Given the description of an element on the screen output the (x, y) to click on. 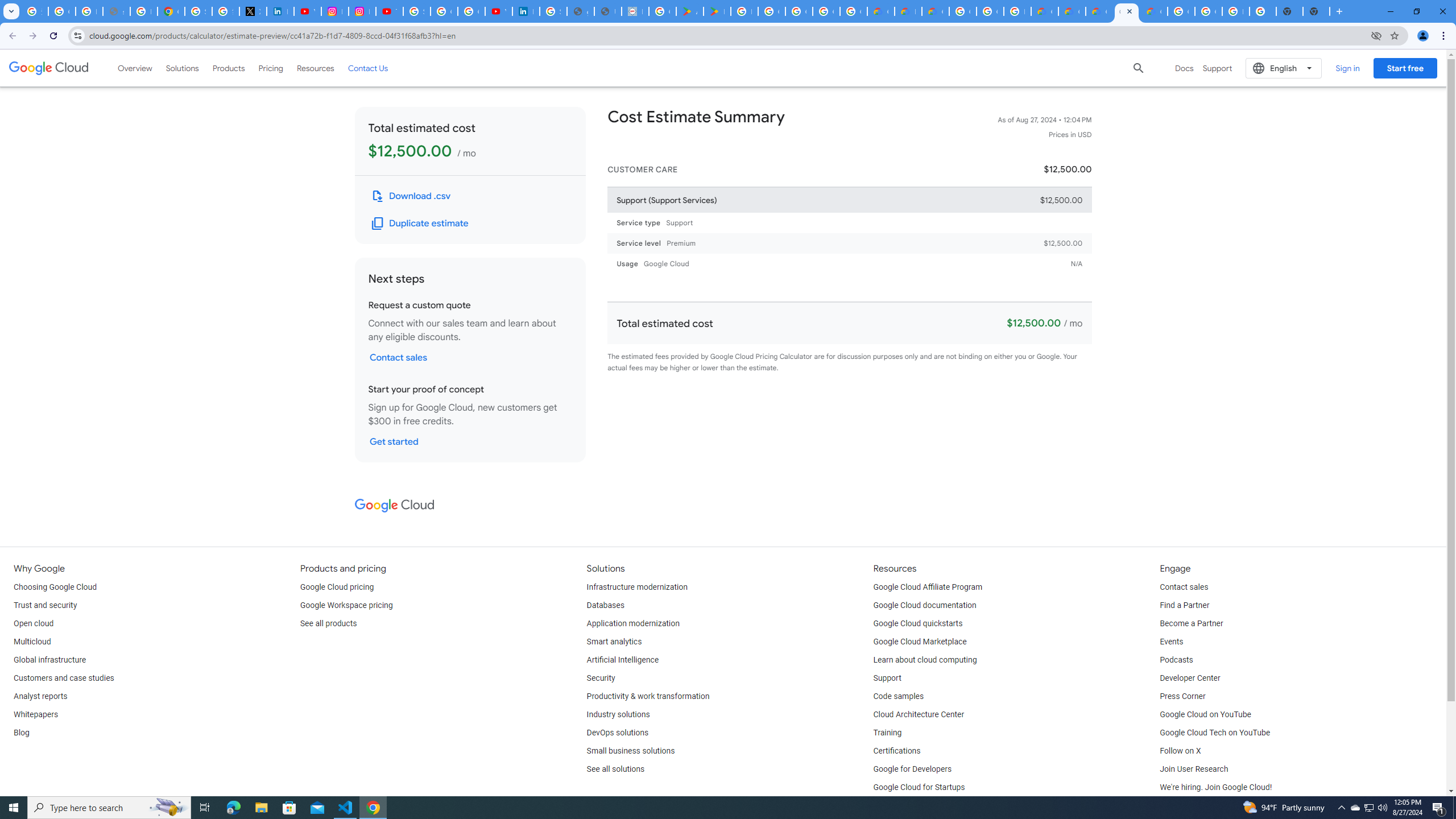
Google Cloud Tech on YouTube (1214, 732)
Databases (605, 605)
Google for Developers (912, 769)
Blog (21, 732)
Customer Care | Google Cloud (880, 11)
YouTube Content Monetization Policies - How YouTube Works (307, 11)
support.google.com - Network error (116, 11)
Customer Care | Google Cloud (1044, 11)
Get started (393, 441)
Open cloud (33, 624)
Google Cloud Estimate Summary (1099, 11)
